Given the description of an element on the screen output the (x, y) to click on. 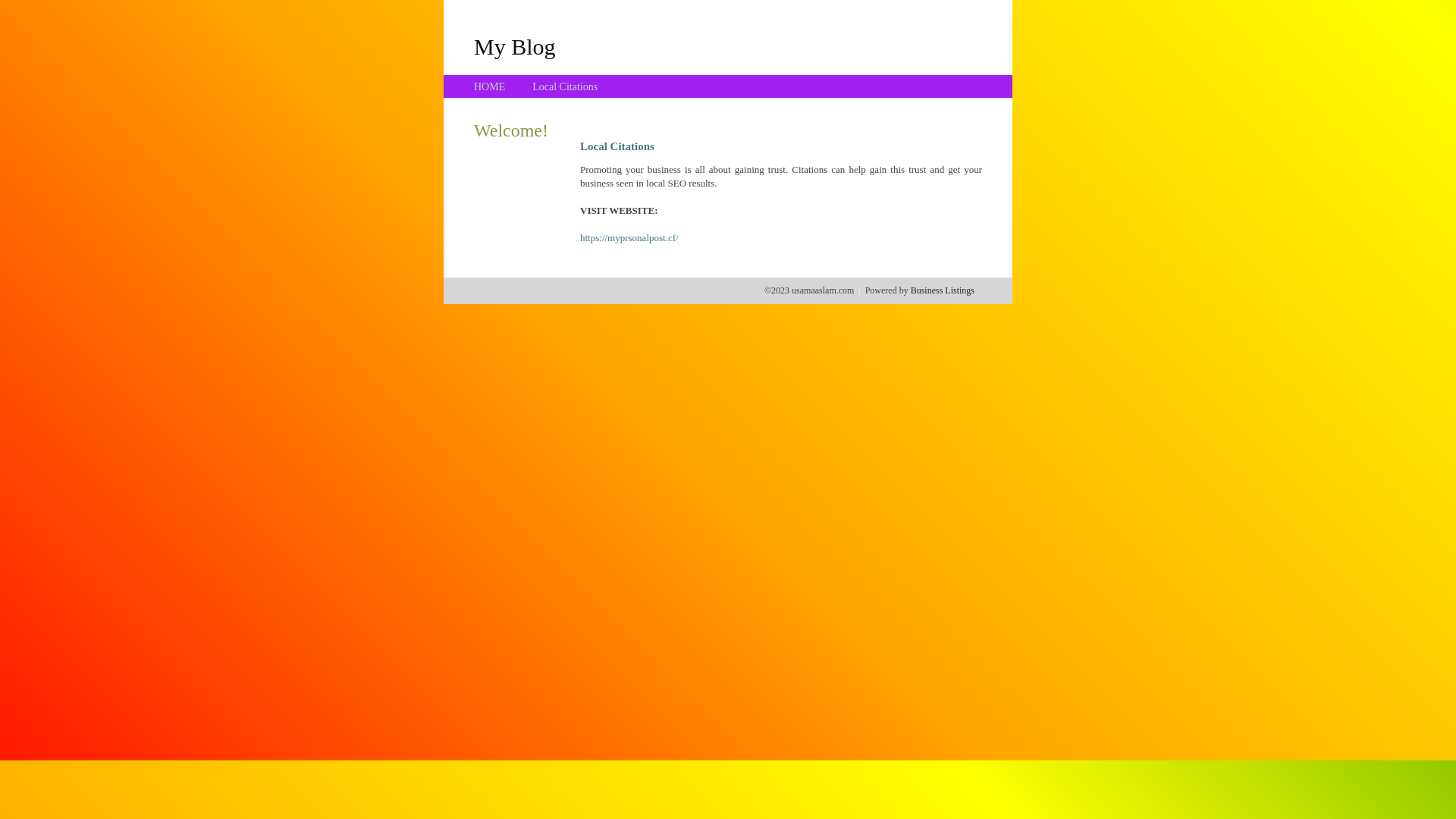
My Blog Element type: text (514, 46)
Business Listings Element type: text (942, 290)
Local Citations Element type: text (564, 86)
HOME Element type: text (489, 86)
https://myprsonalpost.cf/ Element type: text (629, 237)
